Given the description of an element on the screen output the (x, y) to click on. 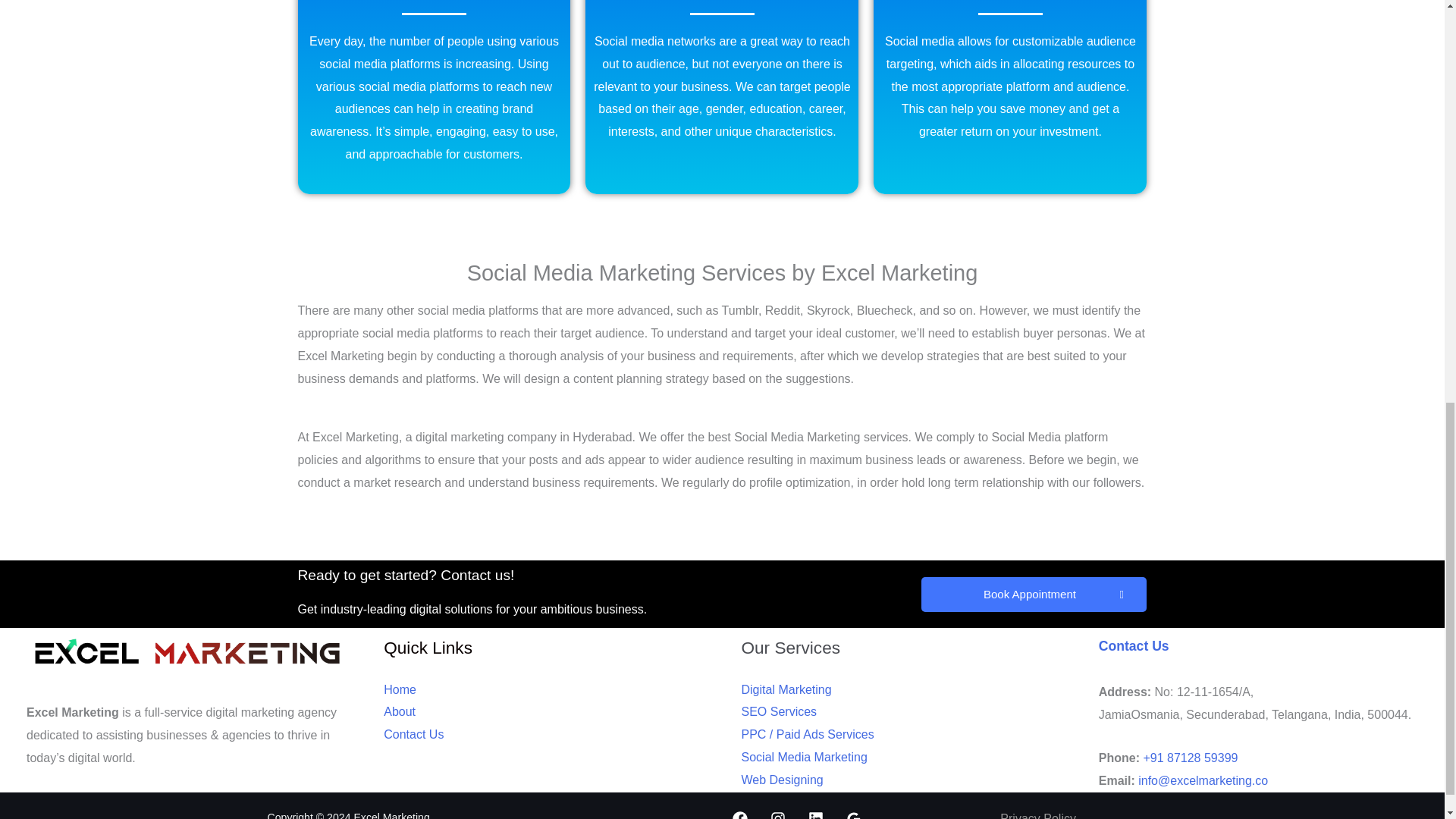
Contact Us (414, 734)
Web Designing (782, 779)
About (399, 711)
Digital Marketing (786, 689)
Home (400, 689)
Book Appointment (1032, 594)
Social Media Marketing (804, 757)
SEO Services (778, 711)
Contact Us (1134, 645)
